Given the description of an element on the screen output the (x, y) to click on. 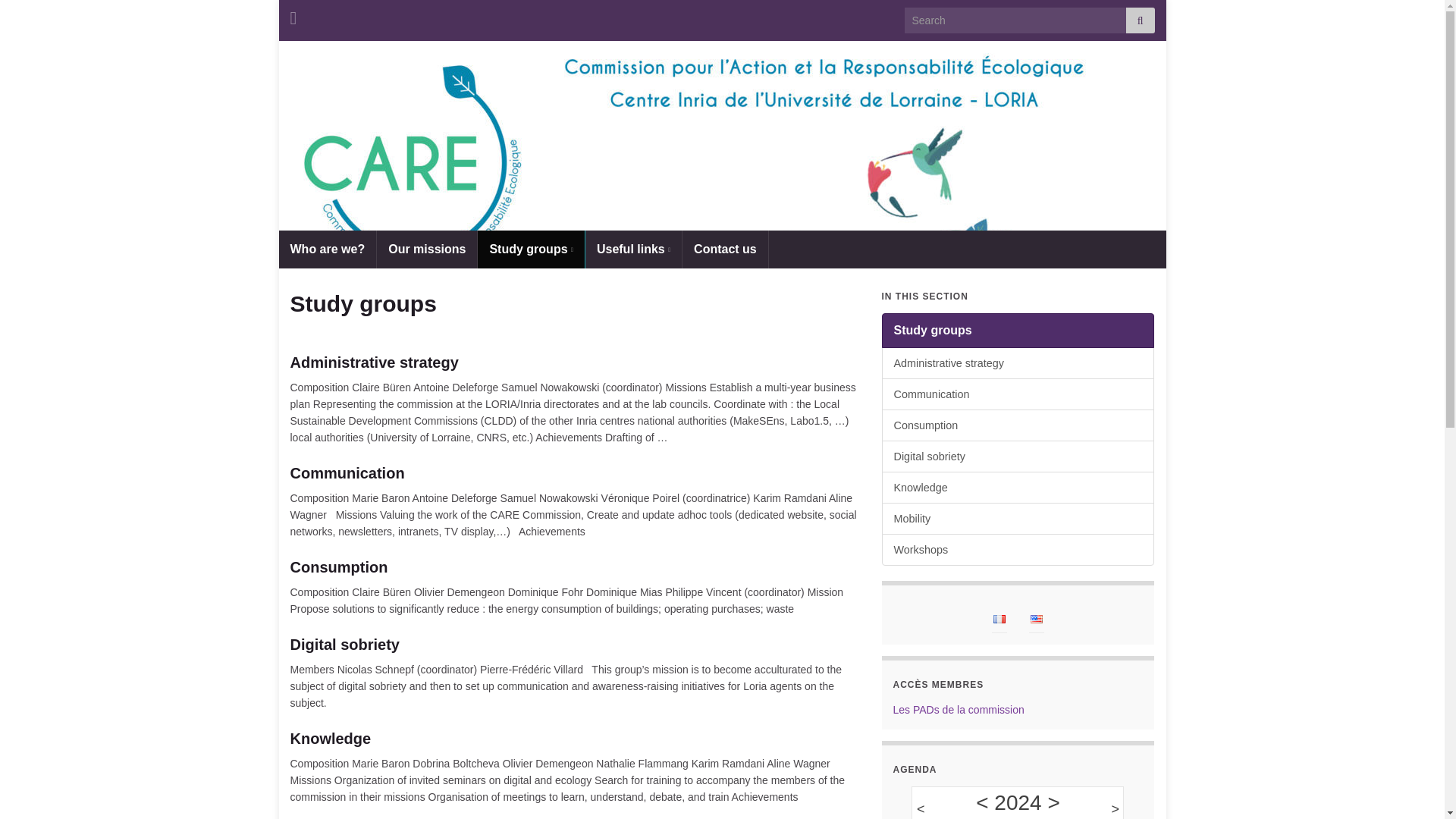
Consumption (1017, 425)
Study groups (1017, 330)
Our missions (427, 249)
Useful links (633, 249)
Contact us (725, 249)
Who are we? (328, 249)
Knowledge (574, 738)
Knowledge (1017, 487)
Permalink to Digital sobriety (574, 644)
Permalink to Administrative strategy (574, 362)
